Given the description of an element on the screen output the (x, y) to click on. 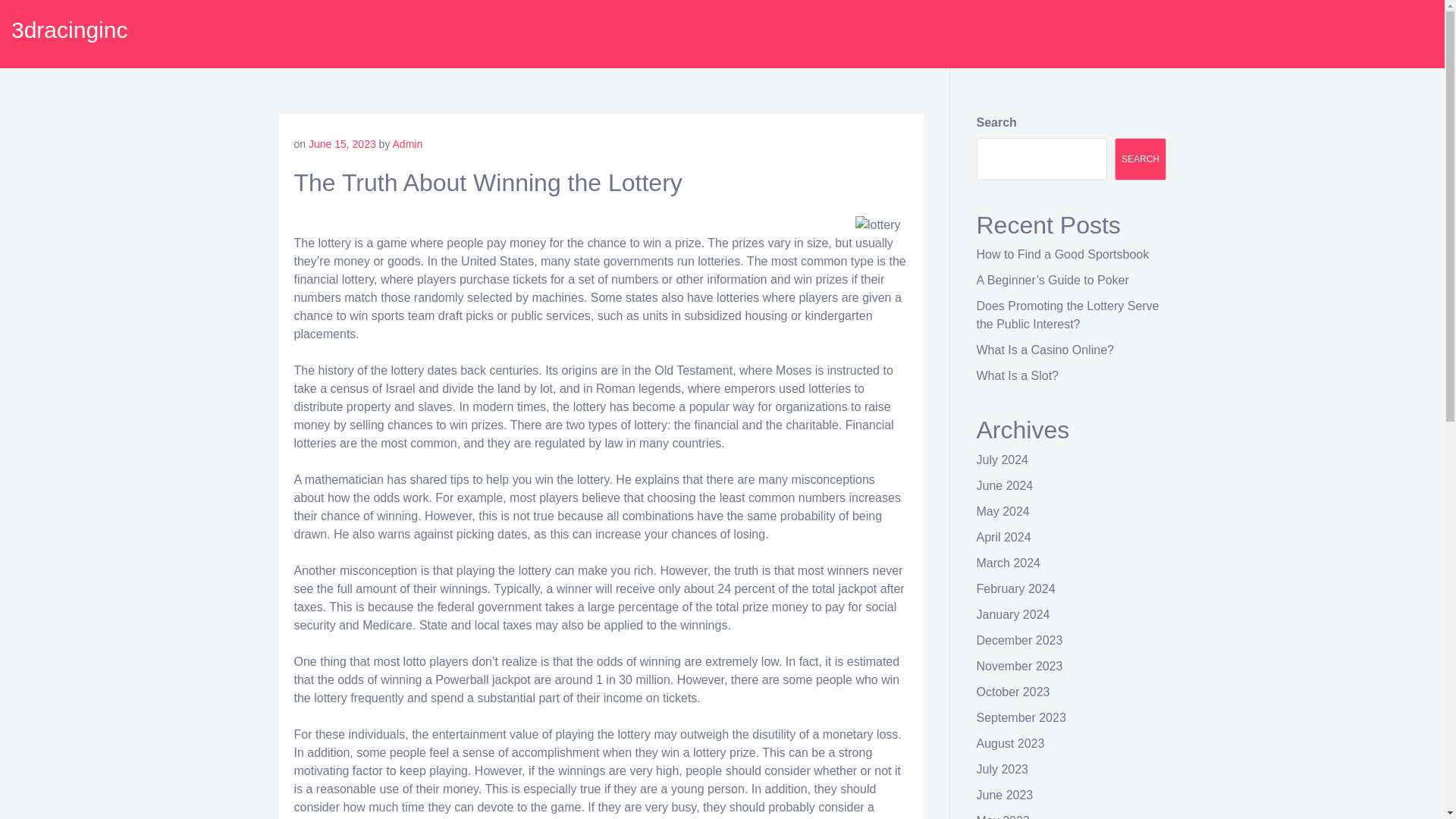
October 2023 (1012, 691)
June 2024 (1004, 485)
Does Promoting the Lottery Serve the Public Interest? (1067, 314)
November 2023 (1019, 666)
August 2023 (1010, 743)
How to Find a Good Sportsbook (1063, 254)
December 2023 (1019, 640)
April 2024 (1003, 536)
3dracinginc (69, 29)
What Is a Casino Online? (1044, 349)
March 2024 (1008, 562)
SEARCH (1140, 159)
September 2023 (1020, 717)
May 2024 (1002, 511)
What Is a Slot? (1017, 375)
